Given the description of an element on the screen output the (x, y) to click on. 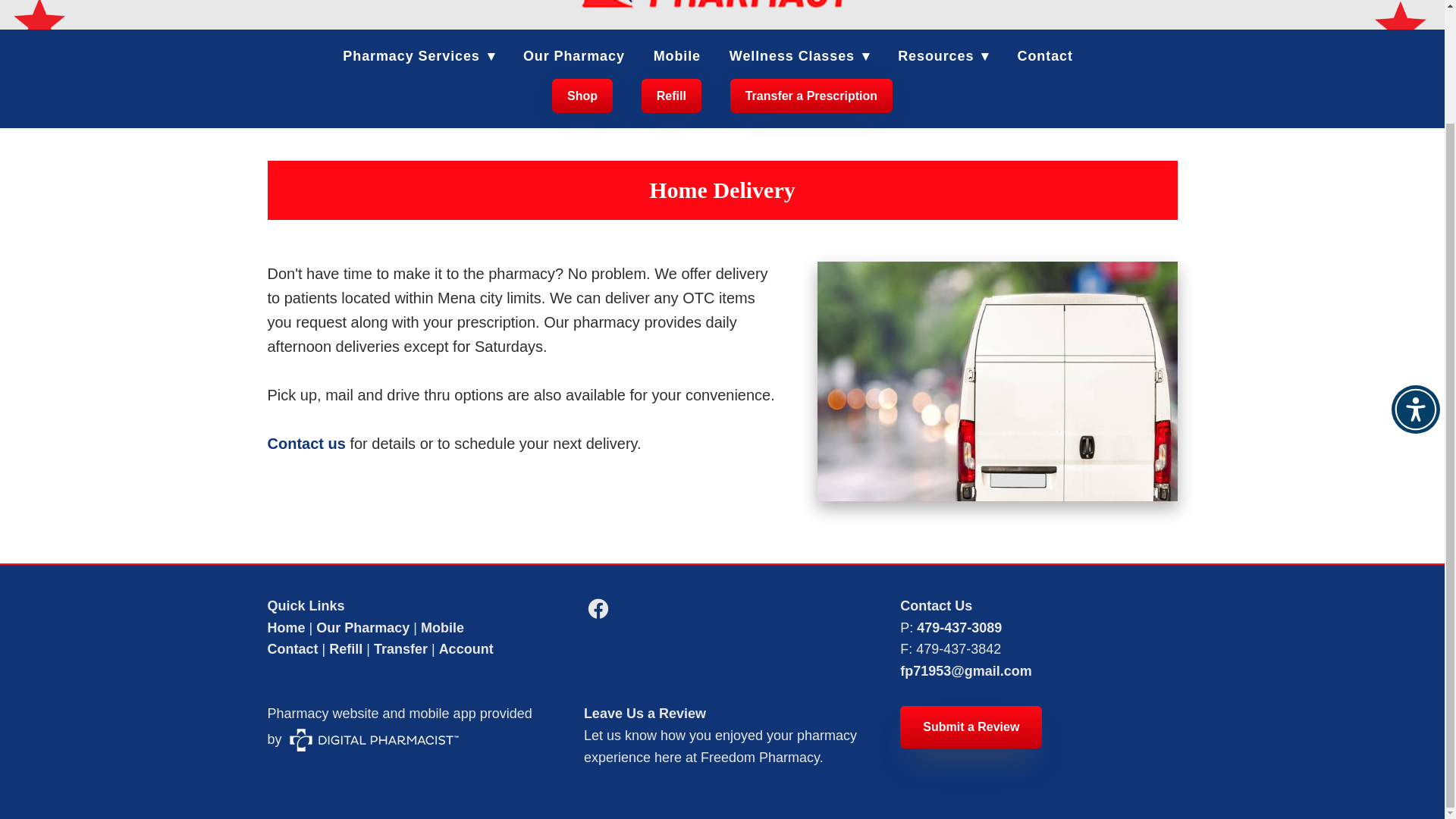
Home (285, 627)
Shop (581, 95)
Transfer (401, 648)
Mobile (676, 55)
Our Pharmacy (573, 55)
Contact (291, 648)
Accessibility Menu (1415, 274)
Refill (345, 648)
Freedom Pharmacy LLC (722, 7)
Contact us (305, 443)
Our Pharmacy (362, 627)
Transfer a Prescription (811, 95)
Digital Pharmacist (373, 739)
Mobile (442, 627)
Contact (1045, 55)
